Given the description of an element on the screen output the (x, y) to click on. 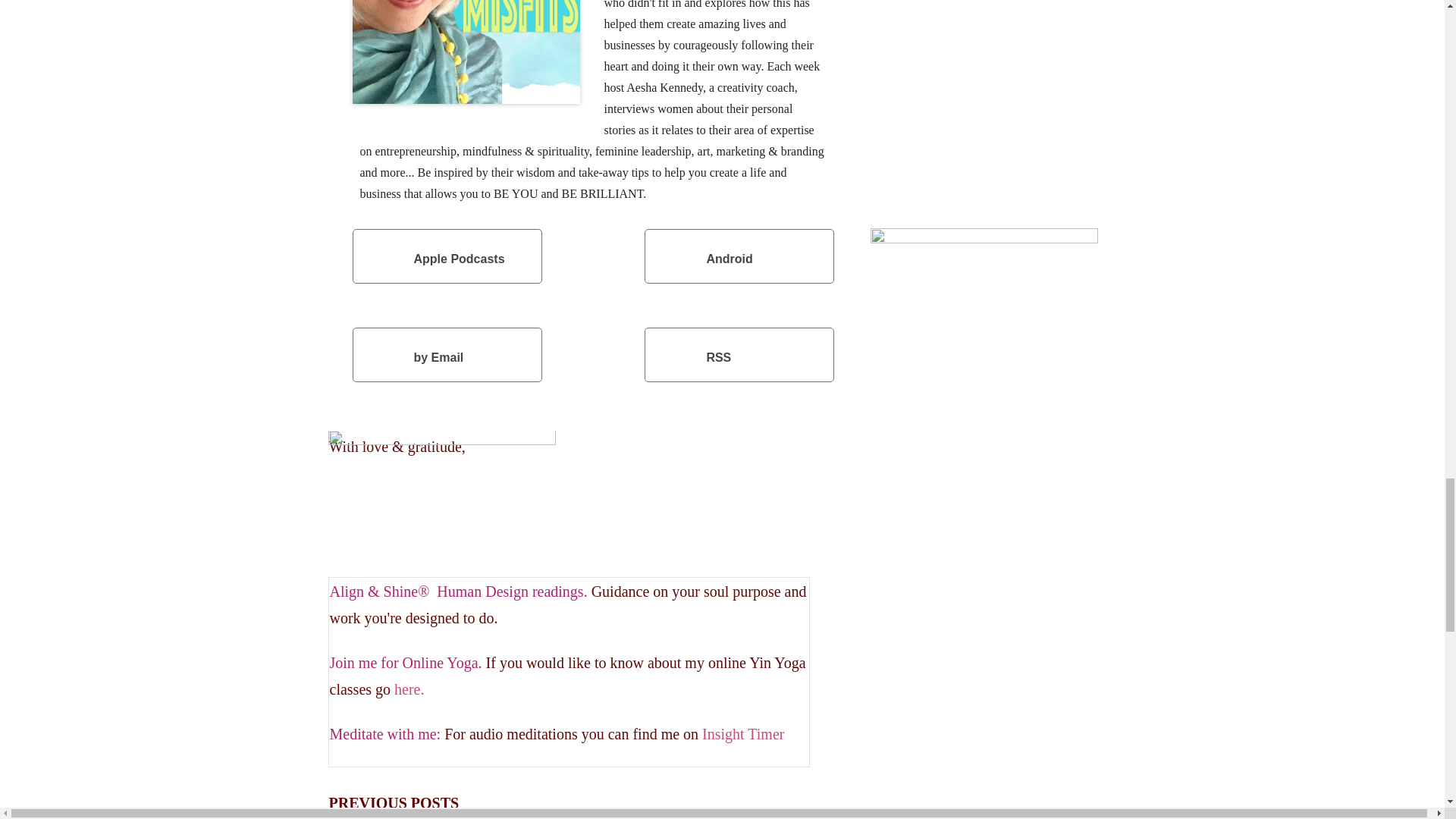
Subscribe on Android (739, 256)
Subscribe via RSS (739, 354)
Android (739, 256)
Apple Podcasts (446, 256)
Insight Timer (742, 733)
RSS (739, 354)
by Email (446, 354)
Subscribe on Apple Podcasts (446, 256)
here. (408, 688)
Brilliant Misfits with Aesha Kennedy (465, 52)
